Given the description of an element on the screen output the (x, y) to click on. 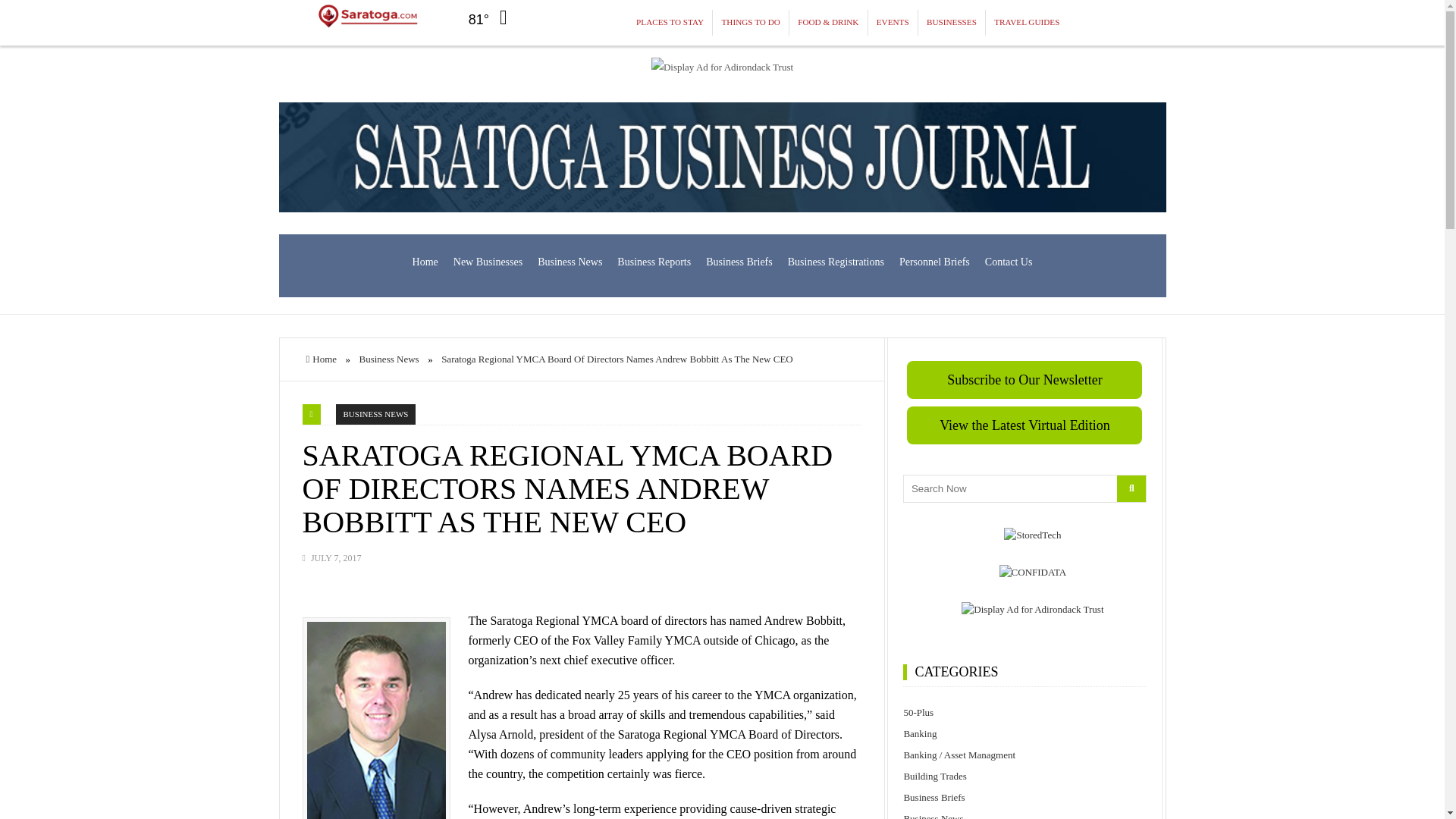
Display Ad for Adirondack Trust (721, 66)
New Businesses (487, 262)
JULY 7, 2017 (336, 557)
Business News (389, 358)
Weather Forecast (493, 17)
CONFIDATA (1032, 572)
Business Briefs (739, 262)
Contact Us (1008, 262)
Home (424, 262)
50-Plus (1024, 712)
Business Reports (654, 262)
Subscribe to Our Newsletter (1024, 379)
BUSINESSES (951, 22)
Home (321, 358)
